Given the description of an element on the screen output the (x, y) to click on. 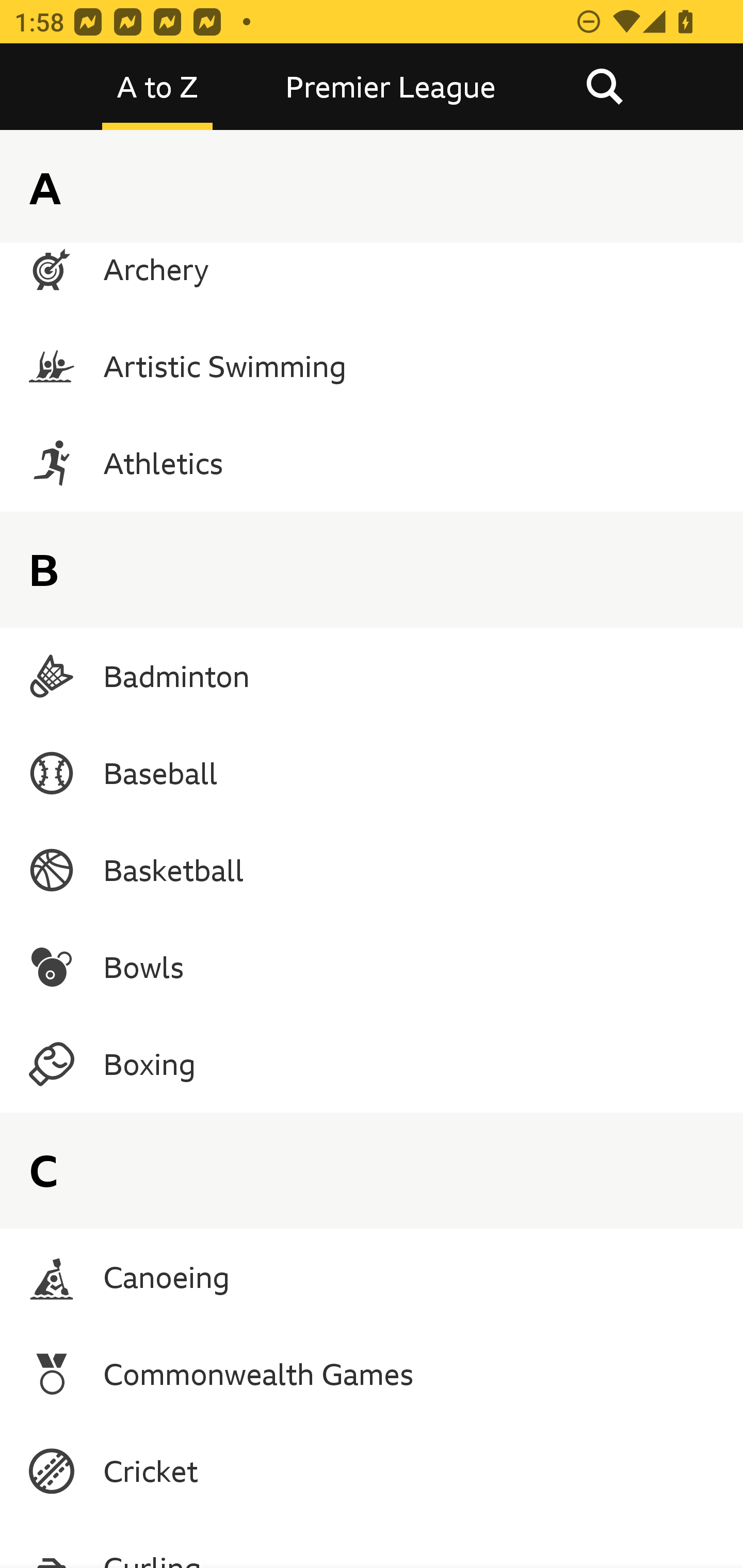
Premier League (390, 86)
Search (604, 86)
American Football (371, 175)
Archery (371, 269)
Artistic Swimming (371, 365)
Athletics (371, 462)
Badminton (371, 675)
Baseball (371, 772)
Basketball (371, 869)
Bowls (371, 967)
Boxing (371, 1064)
Canoeing (371, 1276)
Commonwealth Games (371, 1373)
Cricket (371, 1470)
